Given the description of an element on the screen output the (x, y) to click on. 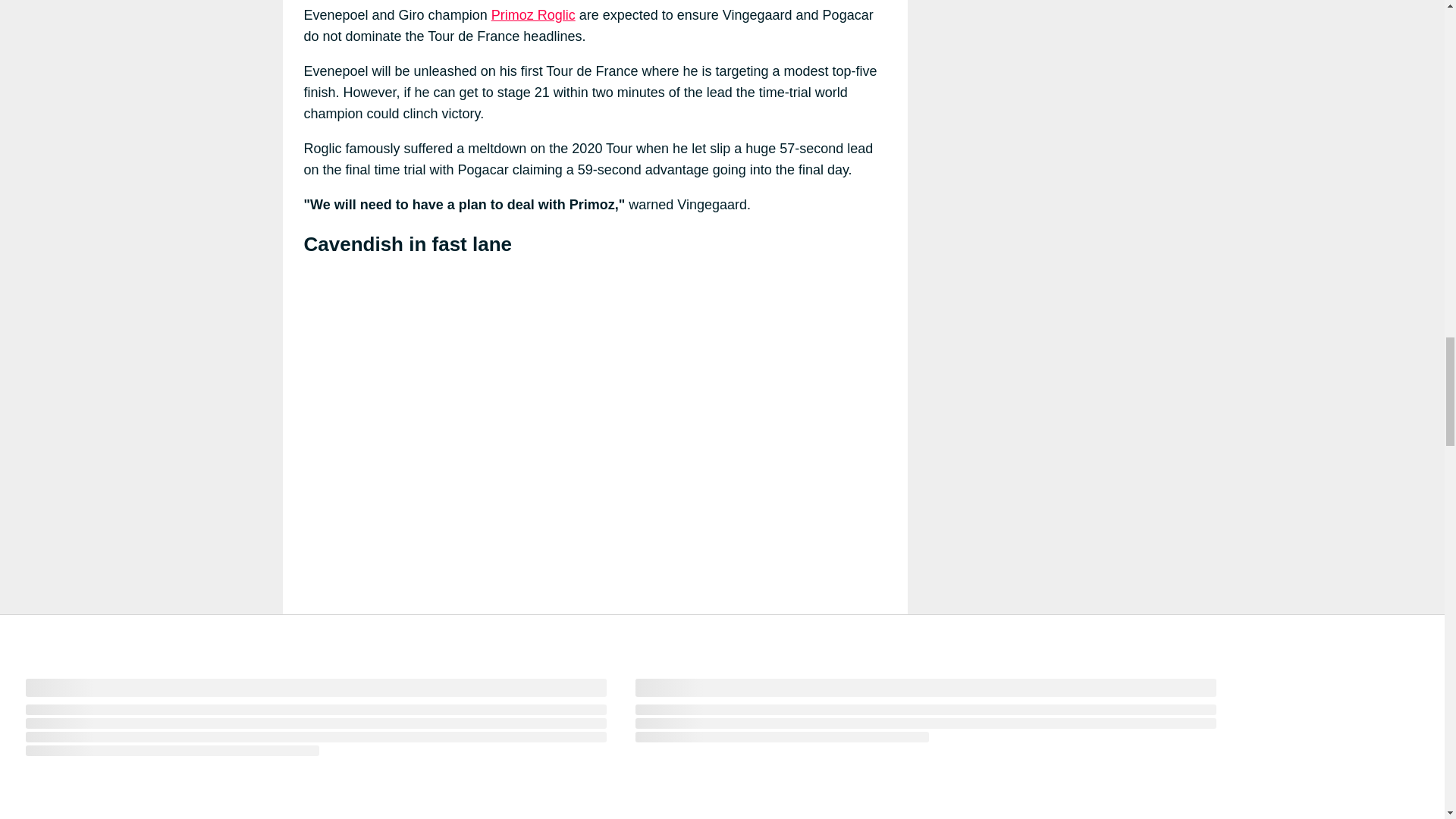
Mark Cavendish (453, 703)
Primoz Roglic (533, 14)
